Given the description of an element on the screen output the (x, y) to click on. 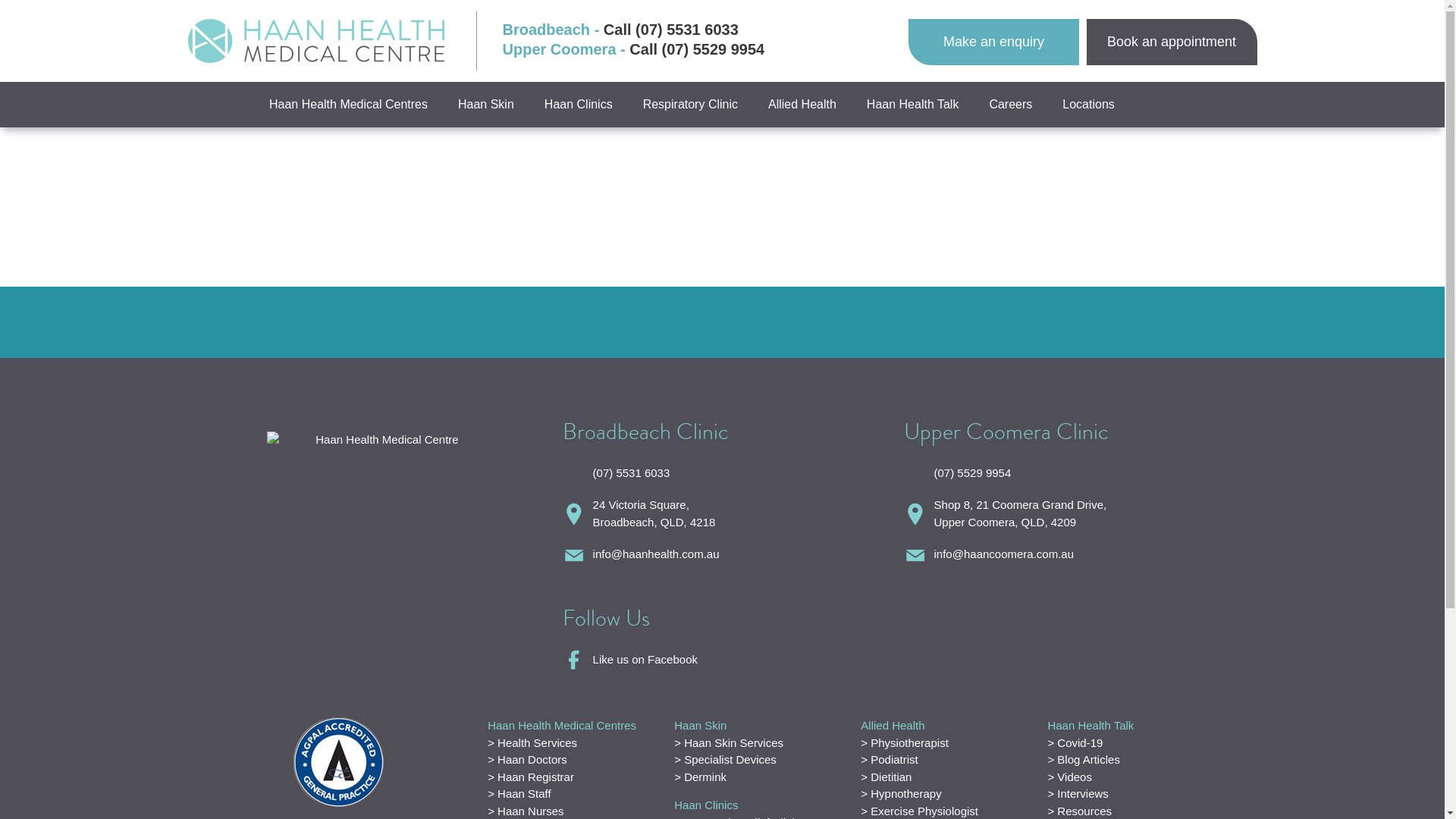
Interviews Element type: text (1077, 793)
Haan Skin Element type: text (485, 104)
Allied Health Element type: text (892, 724)
Haan Staff Element type: text (519, 793)
Specialist Devices Element type: text (725, 759)
Dermink Element type: text (700, 776)
Respiratory Clinic Element type: text (690, 104)
Haan Skin Element type: text (700, 724)
Haan Registrar Element type: text (530, 776)
Videos Element type: text (1069, 776)
Allied Health Element type: text (802, 104)
Haan Doctors Element type: text (527, 759)
Dietitian Element type: text (885, 776)
Exercise Physiologist Element type: text (919, 809)
Like us on Facebook Element type: text (722, 659)
Haan Clinics Element type: text (705, 804)
(07) 5529 9954 Element type: text (1063, 472)
info@haancoomera.com.au Element type: text (1063, 554)
Health Services Element type: text (532, 741)
Resources Element type: text (1079, 809)
Haan Clinics Element type: text (578, 104)
Podiatrist Element type: text (888, 759)
Haan Nurses Element type: text (525, 809)
24 Victoria Square,
Broadbeach, QLD, 4218 Element type: text (722, 513)
Haan Health Talk Element type: text (1090, 724)
info@haanhealth.com.au Element type: text (722, 554)
Blog Articles Element type: text (1083, 759)
Make an enquiry Element type: text (993, 41)
(07) 5531 6033 Element type: text (722, 472)
Locations Element type: text (1088, 104)
Haan Health Medical Centres Element type: text (561, 724)
Call (07) 5531 6033 Element type: text (670, 29)
Book an appointment Element type: text (1170, 41)
Haan Health Talk Element type: text (912, 104)
Hypnotherapy Element type: text (900, 793)
Careers Element type: text (1010, 104)
Call (07) 5529 9954 Element type: text (696, 48)
Haan Health Medical Centres Element type: text (348, 104)
Shop 8, 21 Coomera Grand Drive,
Upper Coomera, QLD, 4209 Element type: text (1063, 513)
Covid-19 Element type: text (1074, 741)
Haan Skin Services Element type: text (728, 741)
Physiotherapist Element type: text (904, 741)
